Given the description of an element on the screen output the (x, y) to click on. 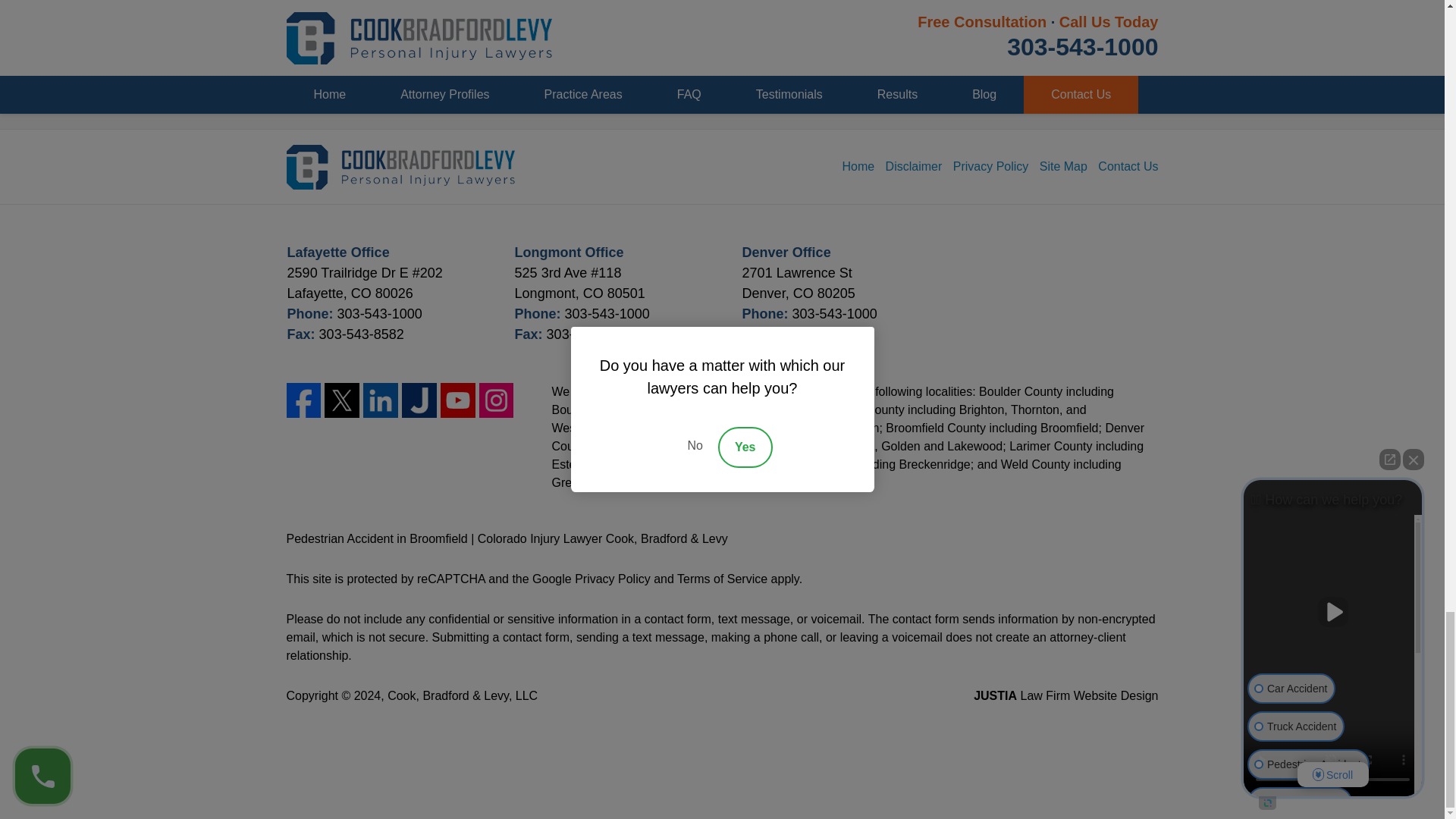
Justia (418, 400)
YouTube (458, 400)
LinkedIn (379, 400)
Instagram (496, 400)
Facebook (303, 400)
Twitter (341, 400)
